Given the description of an element on the screen output the (x, y) to click on. 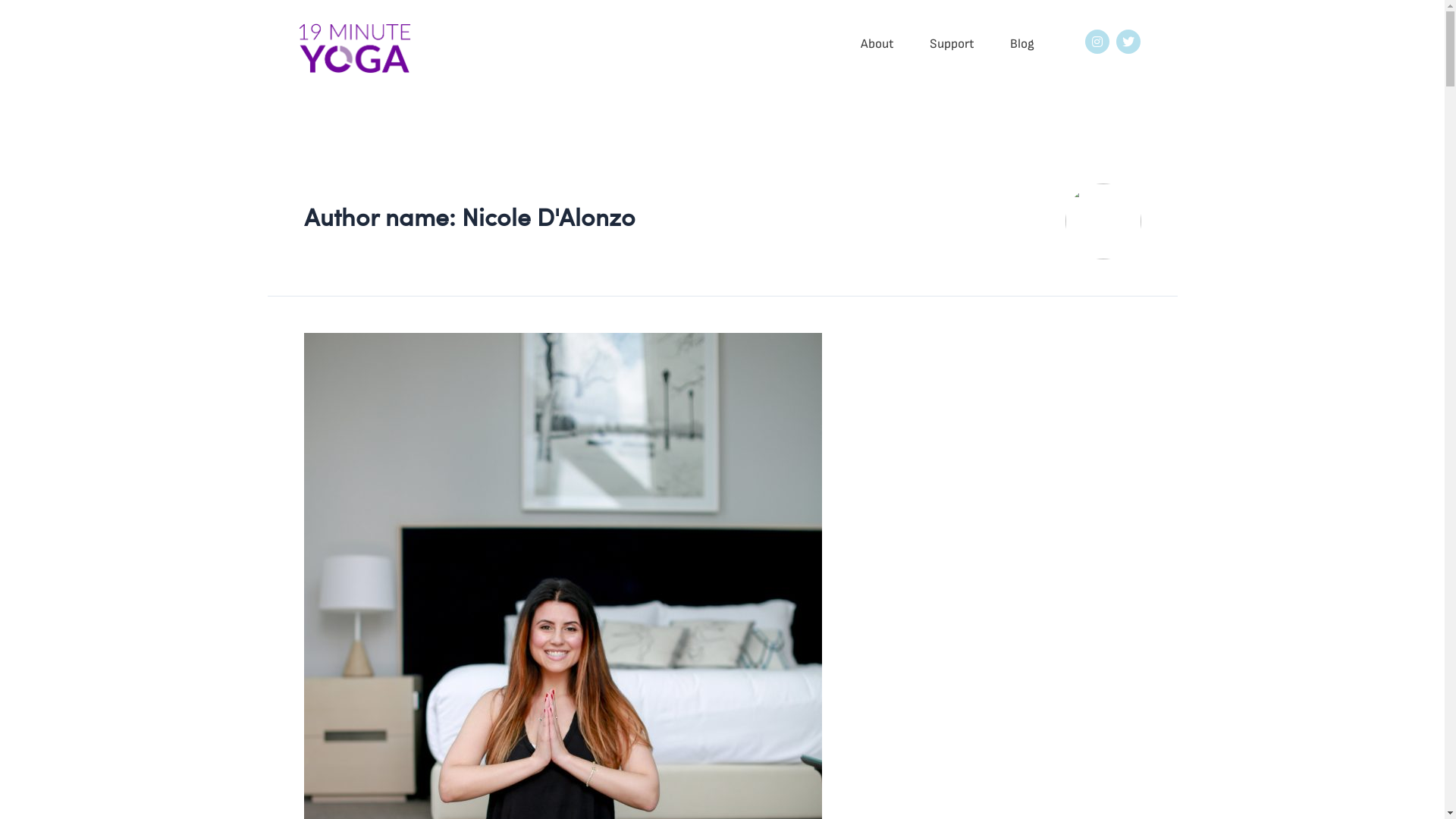
Support Element type: text (951, 43)
About Element type: text (877, 43)
Blog Element type: text (1022, 43)
